Given the description of an element on the screen output the (x, y) to click on. 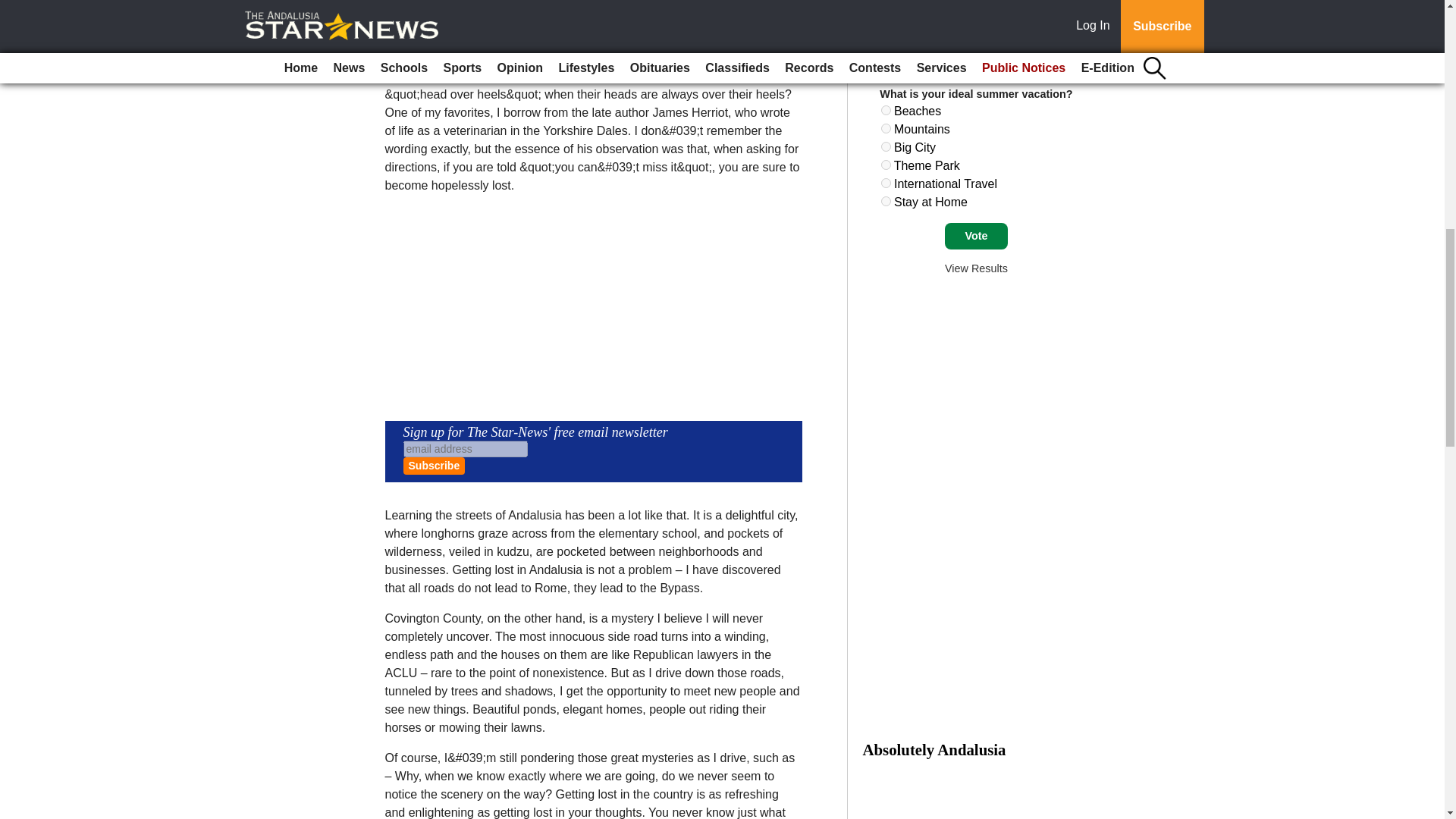
745 (885, 128)
744 (885, 110)
749 (885, 201)
View Results (975, 268)
   Vote    (975, 236)
748 (885, 183)
Subscribe (434, 466)
746 (885, 146)
View Results Of This Poll (975, 268)
747 (885, 164)
Subscribe (434, 466)
